Given the description of an element on the screen output the (x, y) to click on. 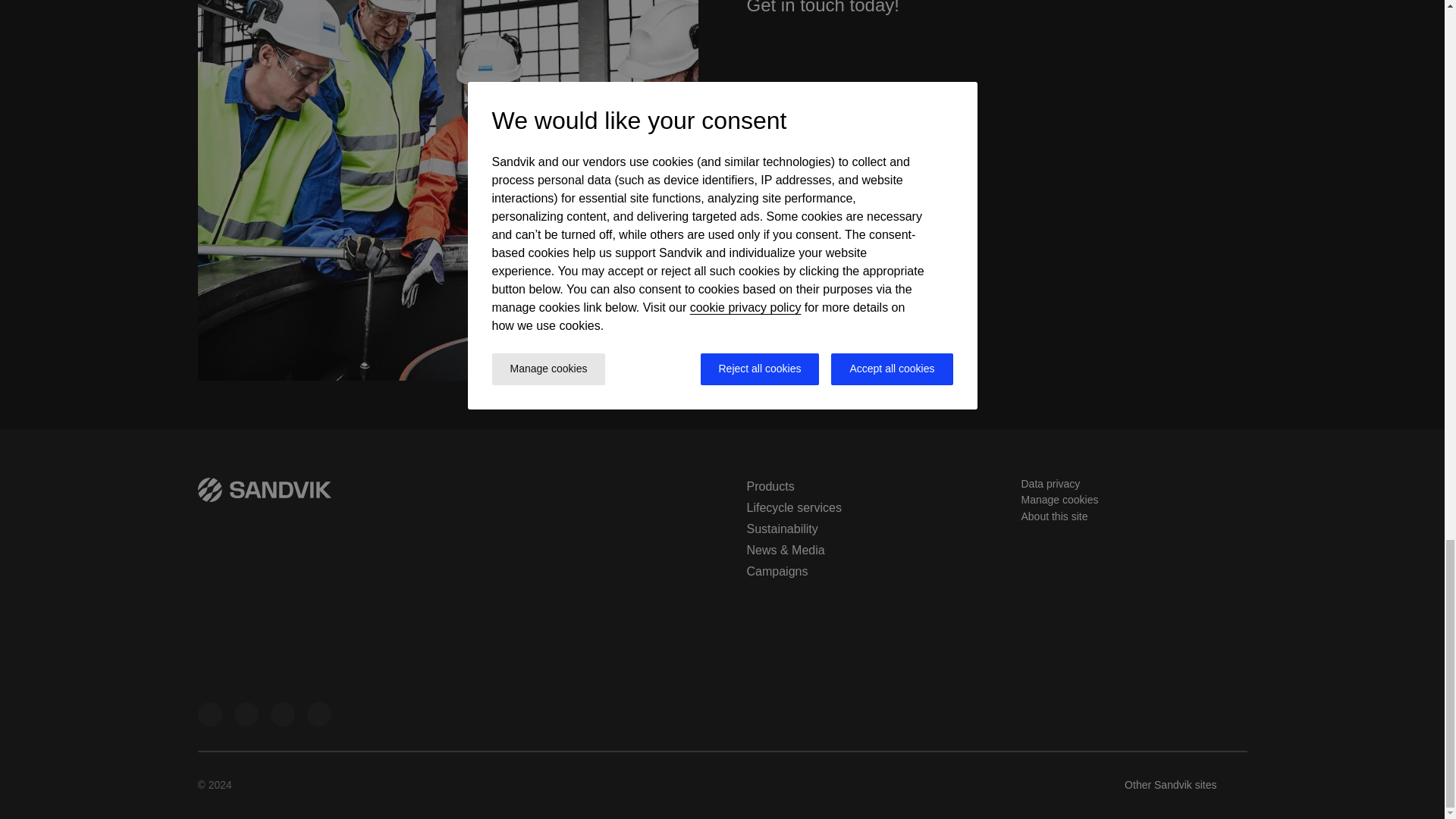
Products (769, 486)
Sandvik Rock Processing Solutions (281, 713)
Contact us (788, 340)
Lifecycle services (793, 507)
Data privacy (1050, 483)
Sandvik Rock Processing Solutions (244, 713)
Sustainability (780, 528)
Sandvik Rock Processing - Youtube (317, 713)
Other Sandvik sites (1185, 785)
About this site (1053, 516)
Manage cookies (1058, 499)
Sandvik Rock Processing Solutions (208, 713)
Campaigns (776, 571)
